Given the description of an element on the screen output the (x, y) to click on. 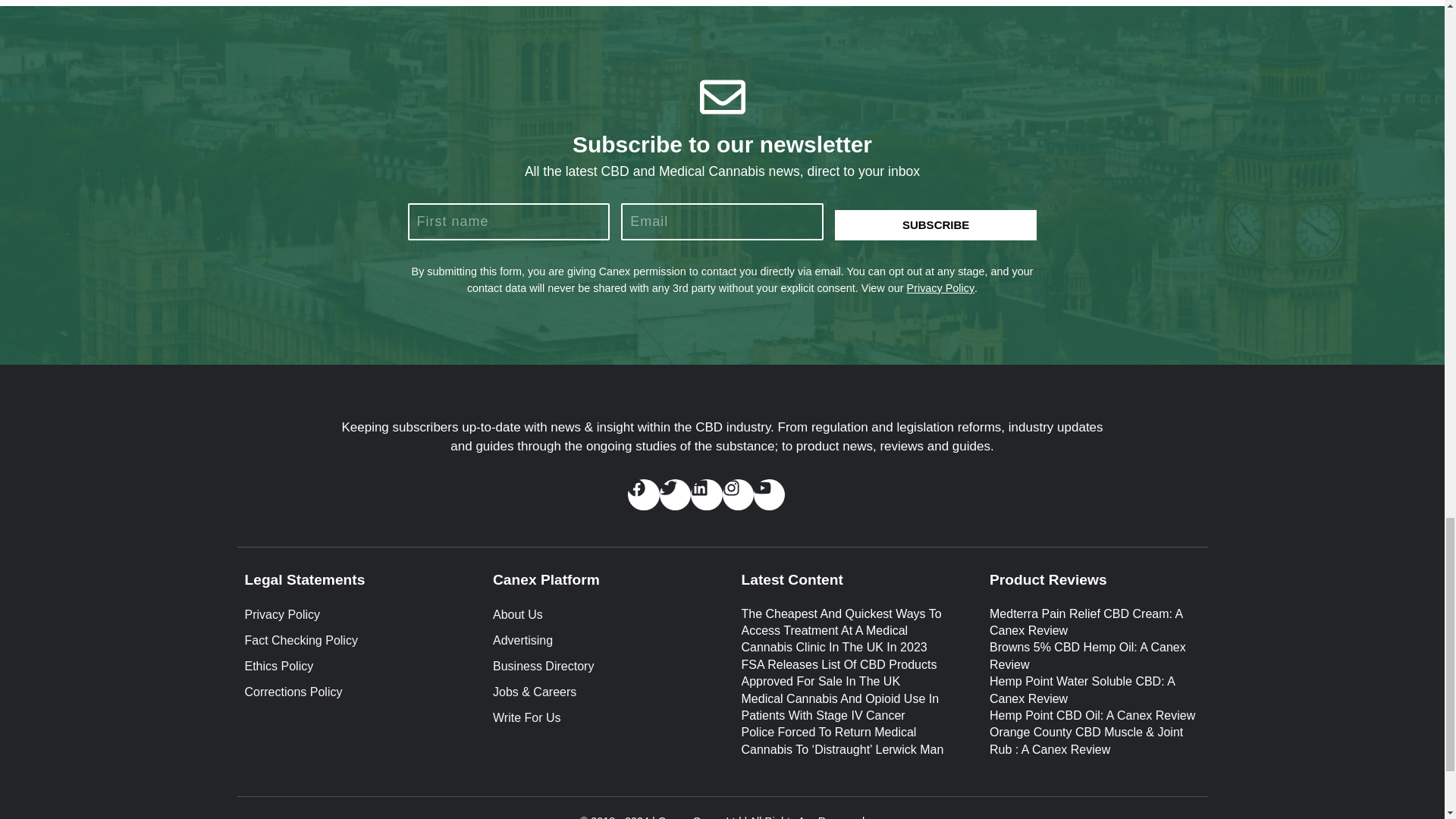
About Us (598, 615)
Corrections Policy (349, 692)
Ethics Policy (349, 666)
Fact Checking Policy (349, 640)
Write For Us (598, 718)
Privacy Policy (941, 287)
SUBSCRIBE (935, 224)
Privacy Policy (349, 615)
Advertising (598, 640)
Medterra Pain Relief CBD Cream: A Canex Review (1086, 622)
Business Directory (598, 666)
Hemp Point CBD Oil: A Canex Review (1092, 715)
